Given the description of an element on the screen output the (x, y) to click on. 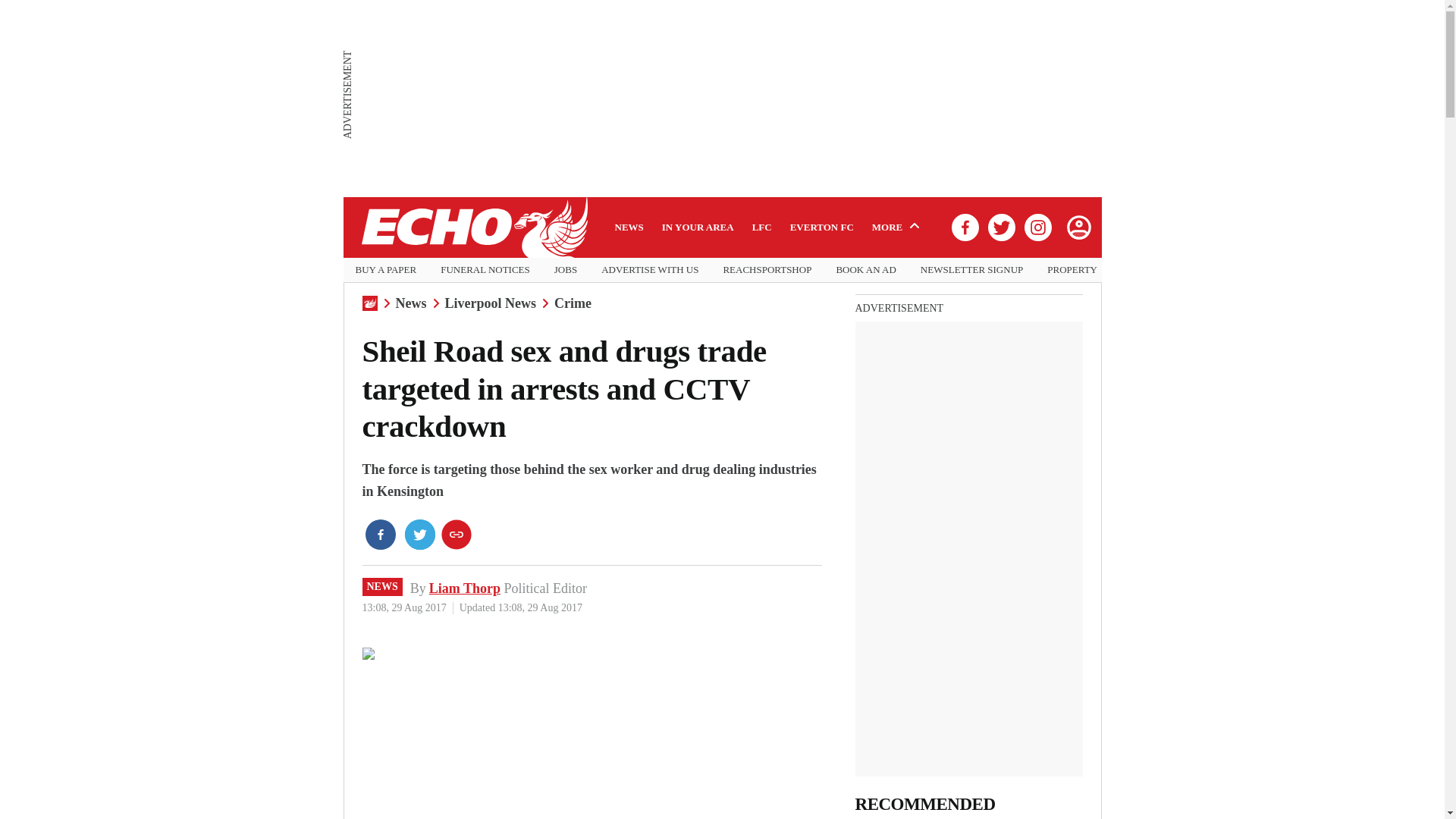
Crime (572, 303)
MORE (897, 227)
NEWS (382, 587)
IN YOUR AREA (697, 227)
BOOK AN AD (865, 270)
avatar (1077, 227)
News (411, 303)
Liam Thorp (464, 588)
Go to the Liverpool Echo homepage (473, 227)
JOBS (565, 270)
